Given the description of an element on the screen output the (x, y) to click on. 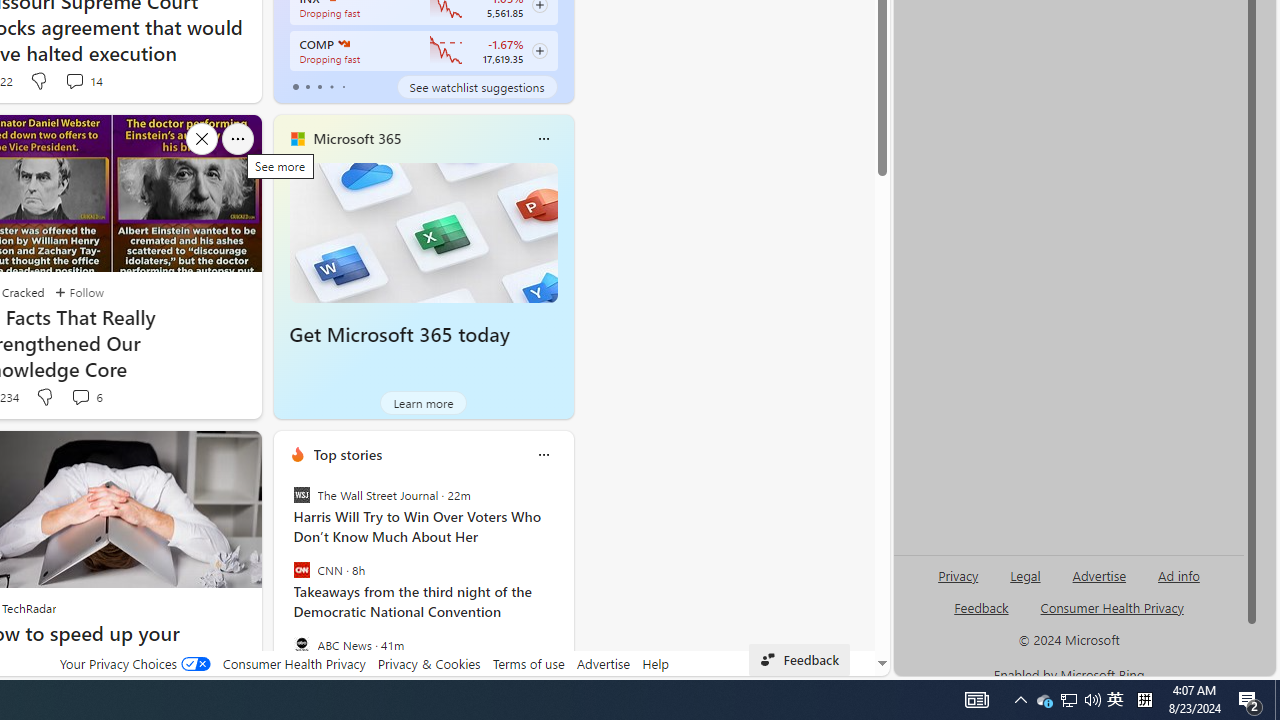
Class: follow-button  m (539, 51)
tab-0 (295, 86)
next (563, 583)
Learn more (423, 402)
View comments 6 Comment (86, 397)
Hide this story (201, 454)
tab-2 (319, 86)
tab-1 (306, 86)
